Given the description of an element on the screen output the (x, y) to click on. 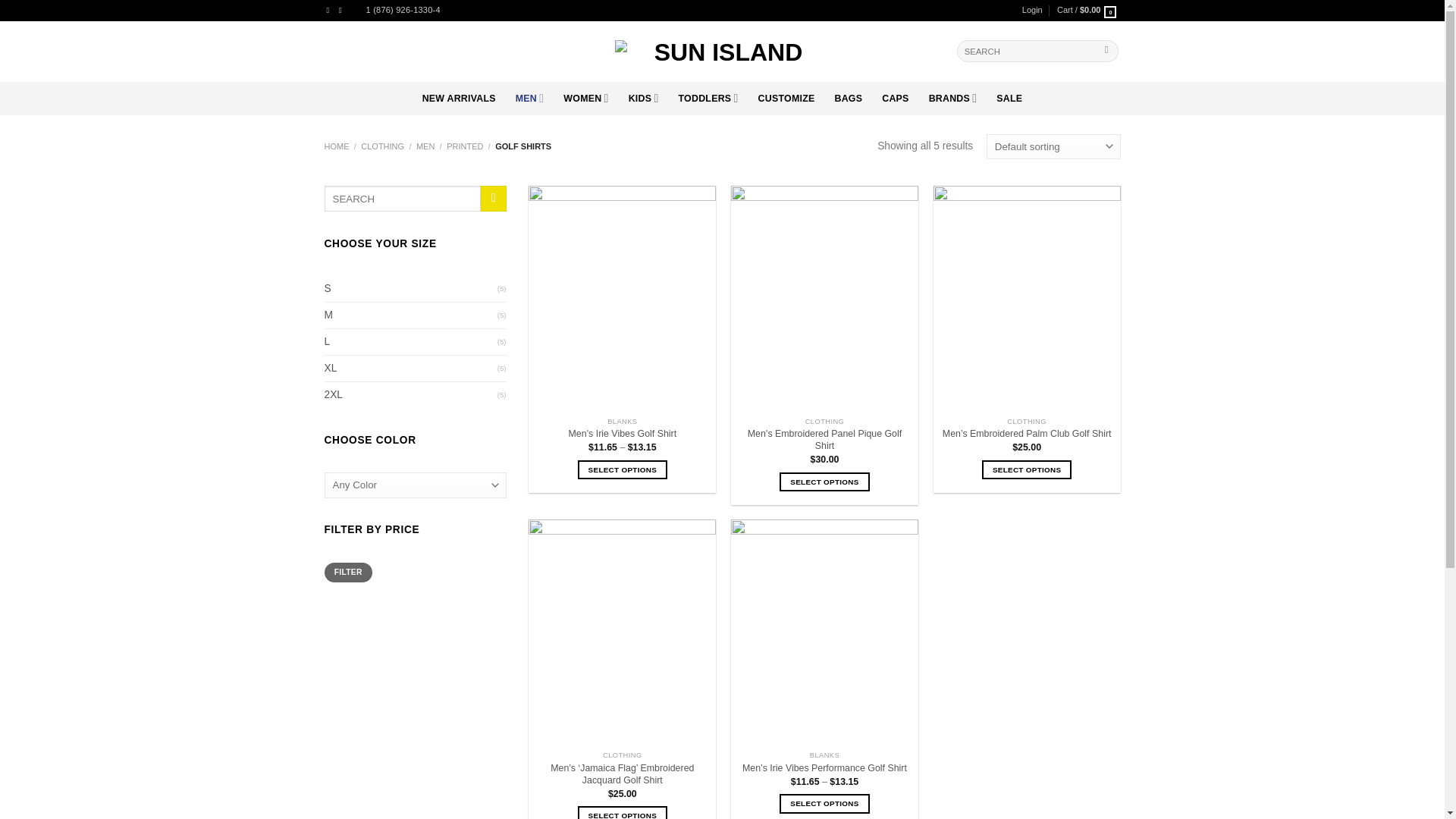
Follow on Instagram (342, 9)
KIDS (643, 98)
WOMEN (585, 98)
NEW ARRIVALS (459, 98)
Login (1032, 10)
Login (1032, 10)
Sun Island Jamaica - Sun Island Jamaica (721, 51)
Cart (1089, 10)
Search (1106, 51)
Follow on Facebook (330, 9)
